Given the description of an element on the screen output the (x, y) to click on. 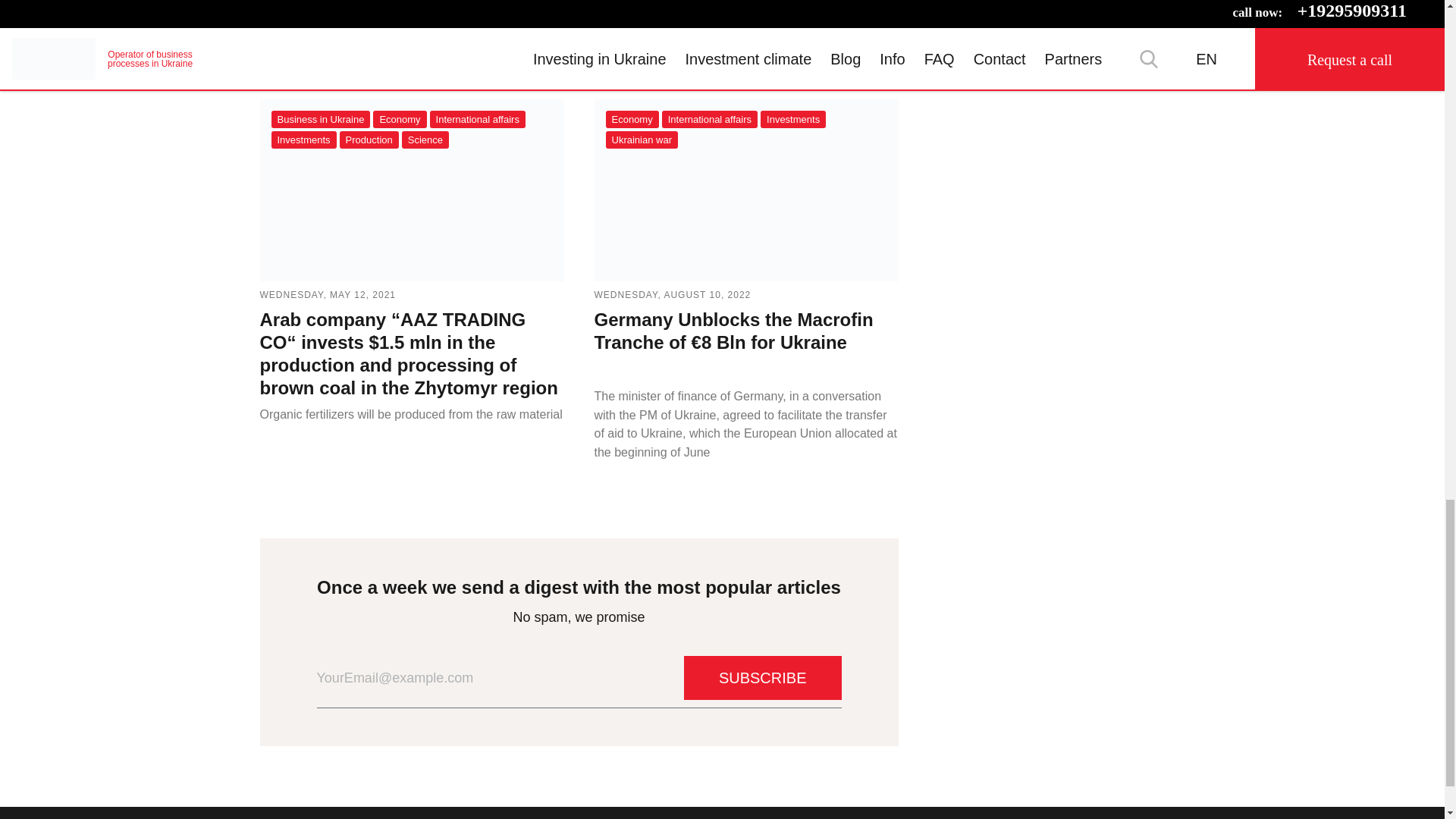
Economy (399, 118)
Investments (303, 139)
Science (424, 139)
Business in Ukraine (320, 118)
Production (368, 139)
International affairs (477, 118)
